Given the description of an element on the screen output the (x, y) to click on. 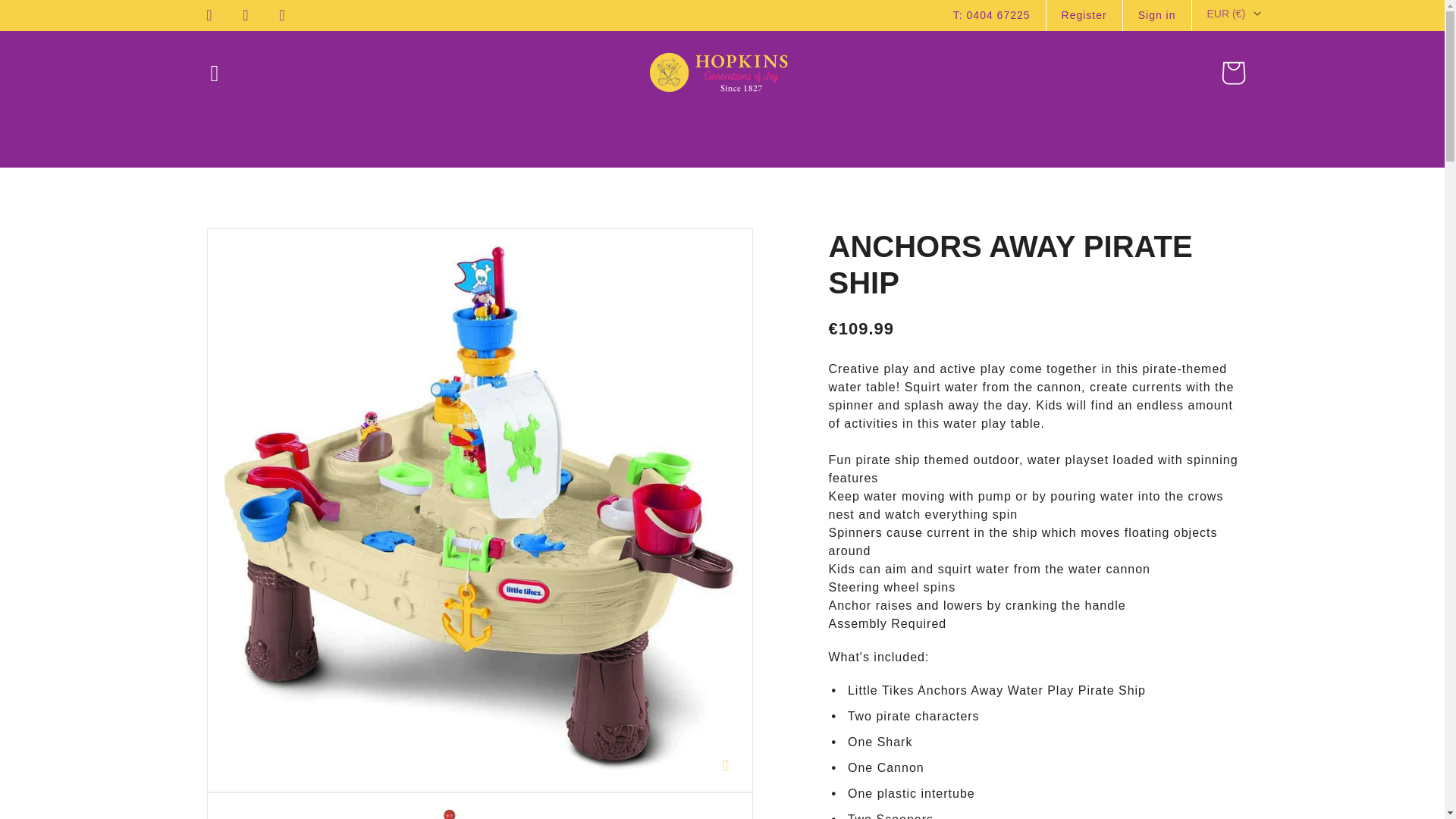
T: 0404 67225 (991, 15)
Register (1084, 15)
Cart (1233, 72)
Search (17, 7)
Sign in (1157, 15)
